Given the description of an element on the screen output the (x, y) to click on. 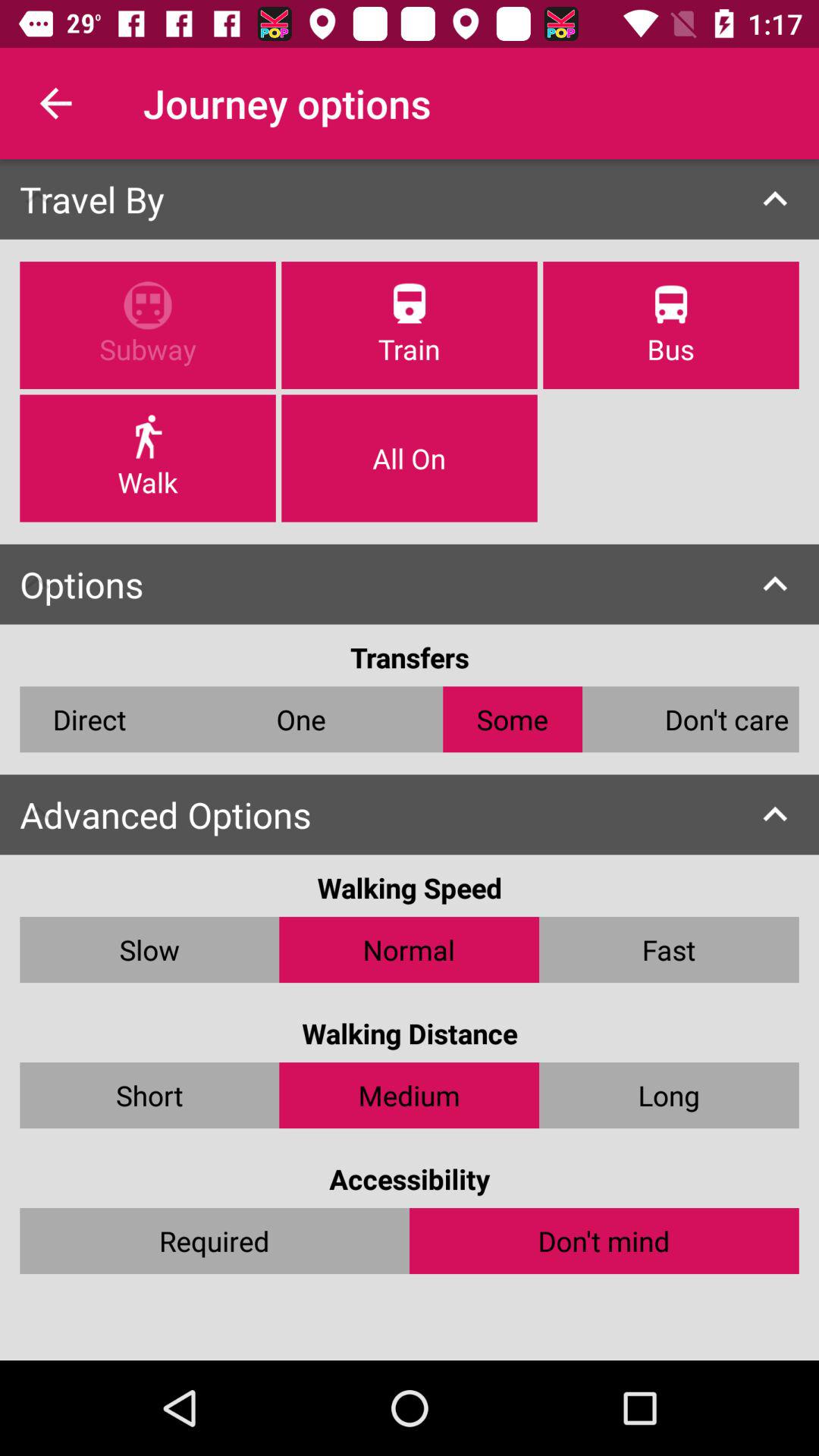
jump to short item (149, 1095)
